Given the description of an element on the screen output the (x, y) to click on. 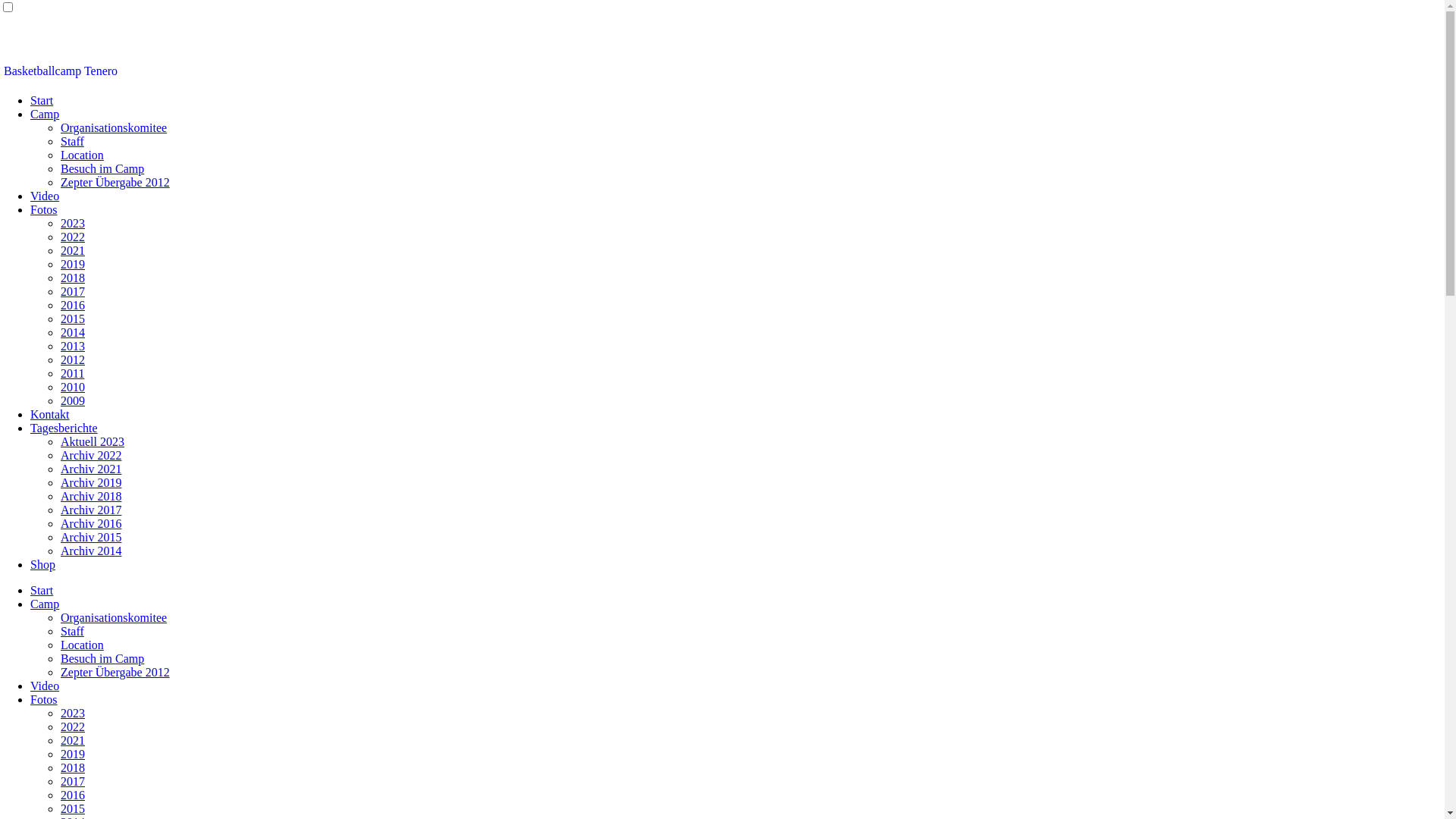
2012 Element type: text (72, 359)
Tagesberichte Element type: text (63, 427)
Start Element type: text (41, 100)
Archiv 2022 Element type: text (90, 454)
Camp Element type: text (44, 603)
Fotos Element type: text (43, 699)
2021 Element type: text (72, 740)
Archiv 2021 Element type: text (90, 468)
Archiv 2015 Element type: text (90, 536)
2017 Element type: text (72, 781)
Besuch im Camp Element type: text (102, 658)
Staff Element type: text (72, 140)
Besuch im Camp Element type: text (102, 168)
2022 Element type: text (72, 726)
Archiv 2019 Element type: text (90, 482)
Archiv 2018 Element type: text (90, 495)
Staff Element type: text (72, 630)
2023 Element type: text (72, 712)
Location Element type: text (81, 644)
Organisationskomitee Element type: text (113, 127)
Start Element type: text (41, 589)
Archiv 2016 Element type: text (90, 523)
2018 Element type: text (72, 767)
2016 Element type: text (72, 794)
Fotos Element type: text (43, 209)
Video Element type: text (44, 195)
Kontakt Element type: text (49, 413)
2014 Element type: text (72, 332)
Location Element type: text (81, 154)
2011 Element type: text (72, 373)
2019 Element type: text (72, 263)
Archiv 2014 Element type: text (90, 550)
2010 Element type: text (72, 386)
2016 Element type: text (72, 304)
Basketballcamp Tenero Element type: text (60, 70)
2017 Element type: text (72, 291)
2013 Element type: text (72, 345)
2018 Element type: text (72, 277)
2015 Element type: text (72, 808)
Aktuell 2023 Element type: text (92, 441)
2015 Element type: text (72, 318)
2019 Element type: text (72, 753)
2023 Element type: text (72, 222)
Video Element type: text (44, 685)
2009 Element type: text (72, 400)
Shop Element type: text (42, 564)
2021 Element type: text (72, 250)
Organisationskomitee Element type: text (113, 617)
Camp Element type: text (44, 113)
2022 Element type: text (72, 236)
Archiv 2017 Element type: text (90, 509)
